Given the description of an element on the screen output the (x, y) to click on. 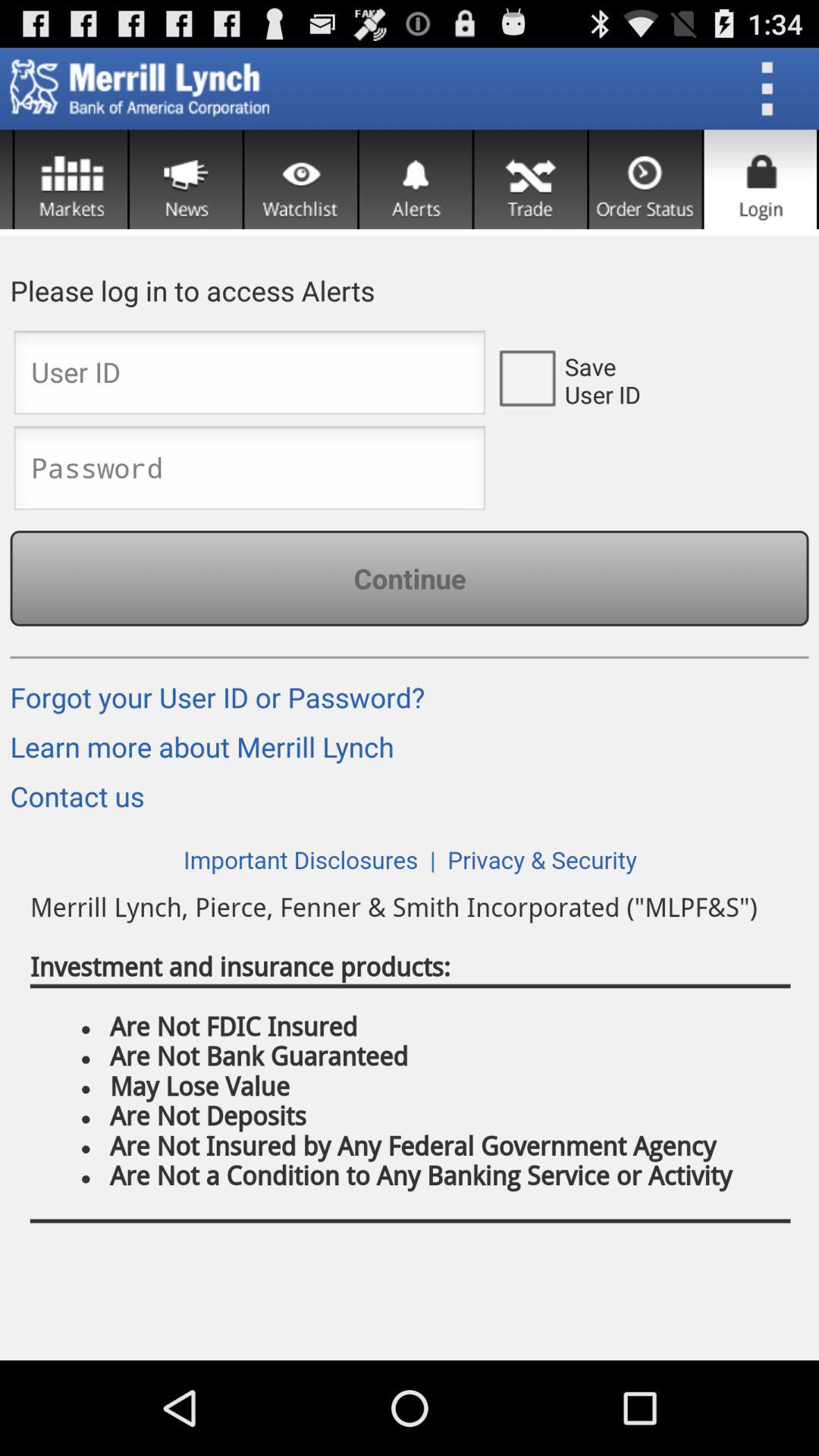
begin trading (530, 179)
